Given the description of an element on the screen output the (x, y) to click on. 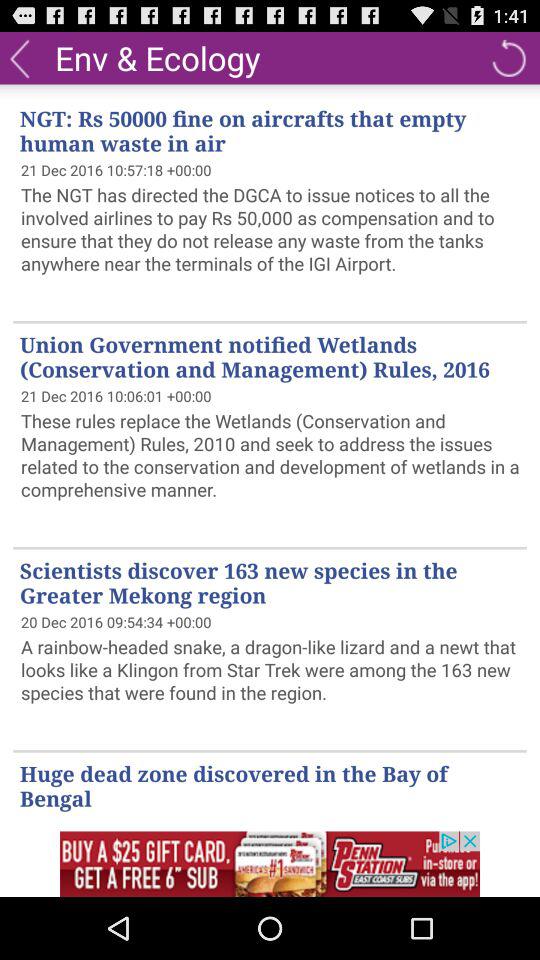
refresh (508, 57)
